Given the description of an element on the screen output the (x, y) to click on. 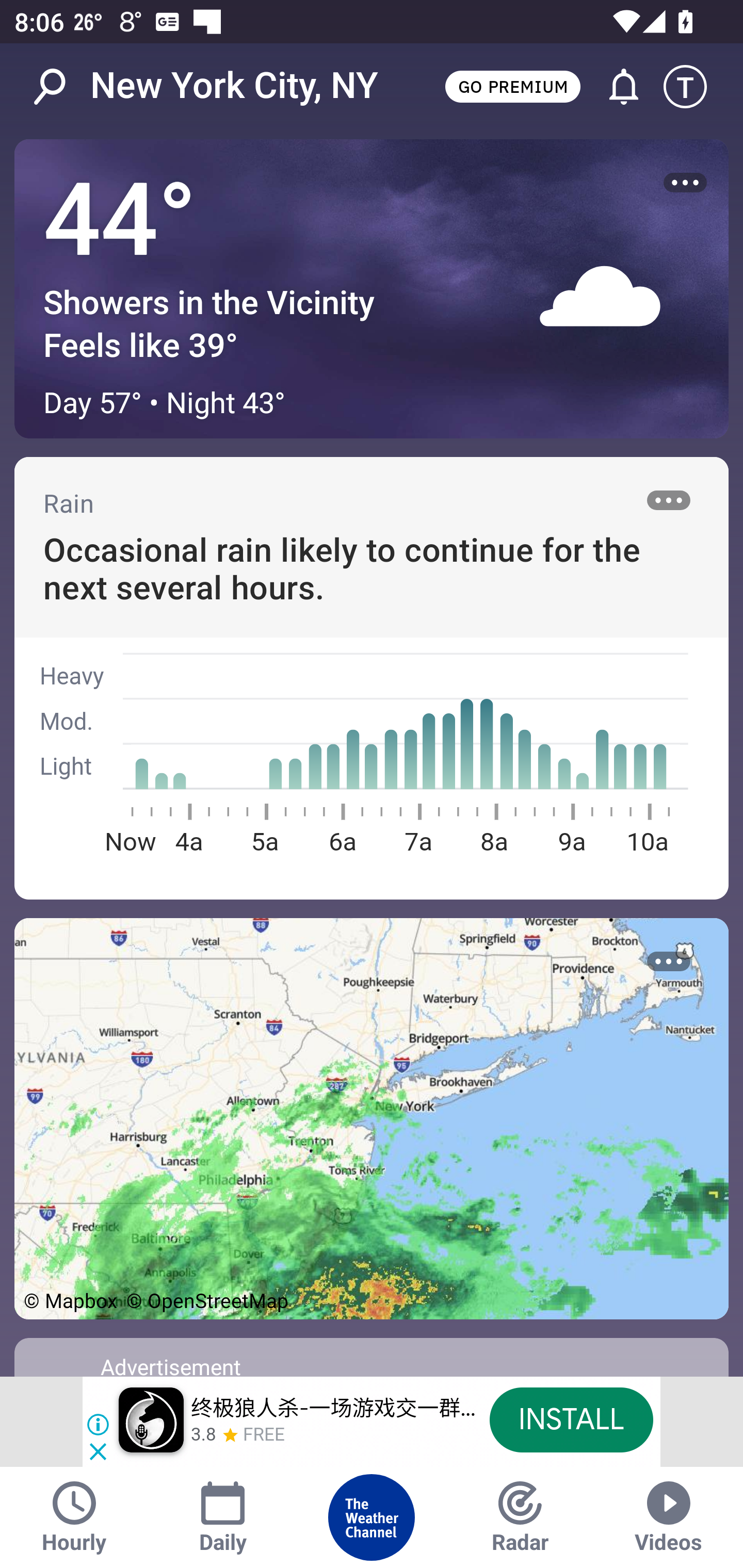
Search (59, 86)
Go to Alerts and Notifications (614, 86)
Setting icon T (694, 86)
New York City, NY (234, 85)
GO PREMIUM (512, 85)
More options (684, 182)
More options (668, 500)
See Map Details (371, 1118)
More options (668, 961)
INSTALL (570, 1419)
终极狼人杀-一场游戏交一群… (333, 1408)
Hourly Tab Hourly (74, 1517)
Daily Tab Daily (222, 1517)
Radar Tab Radar (519, 1517)
Videos Tab Videos (668, 1517)
